Given the description of an element on the screen output the (x, y) to click on. 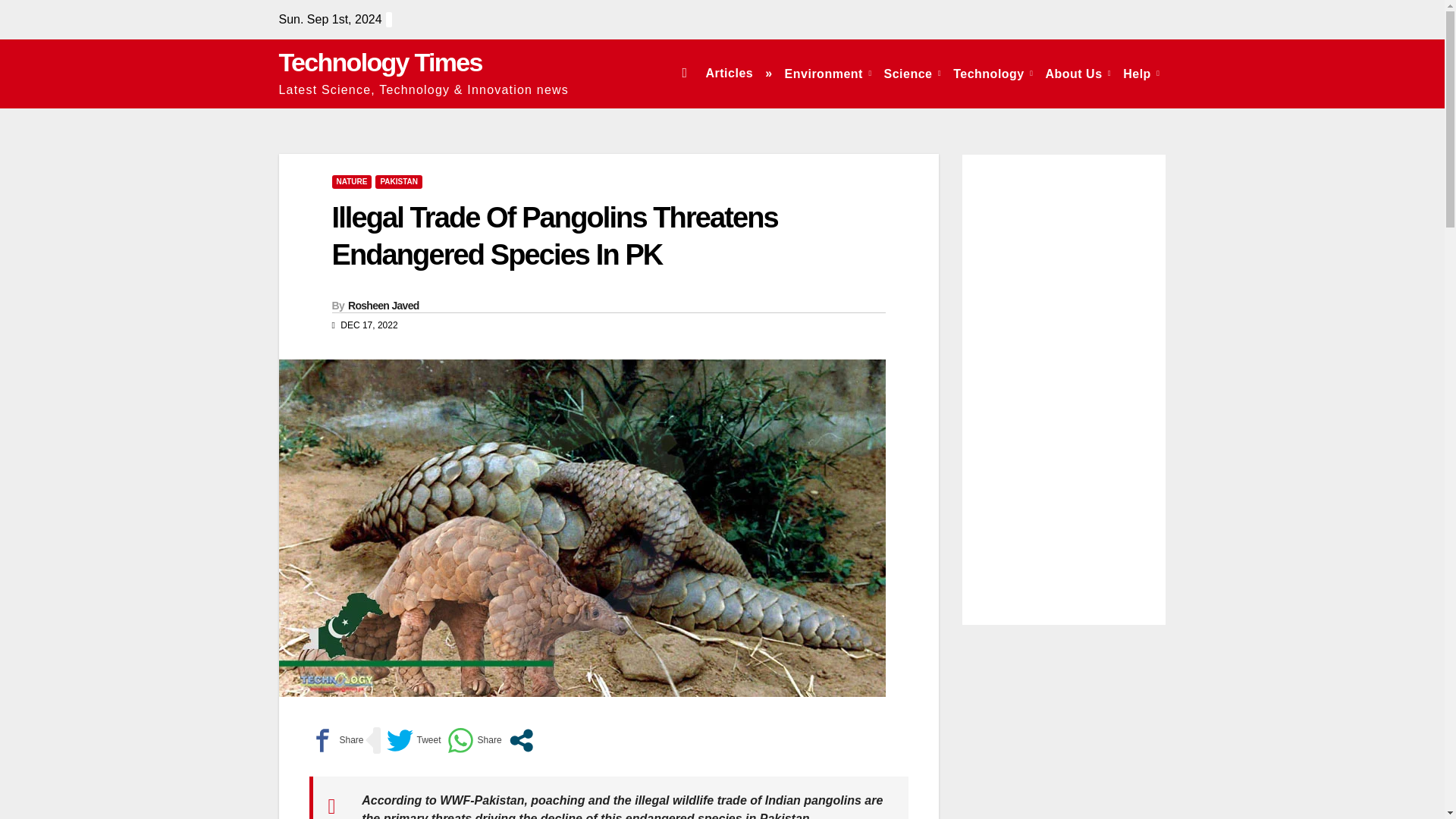
About Us (1077, 73)
Science (912, 73)
Environment (827, 73)
Technology (993, 73)
Technology Times (380, 61)
Technology (993, 73)
Environment (827, 73)
Science (912, 73)
